Given the description of an element on the screen output the (x, y) to click on. 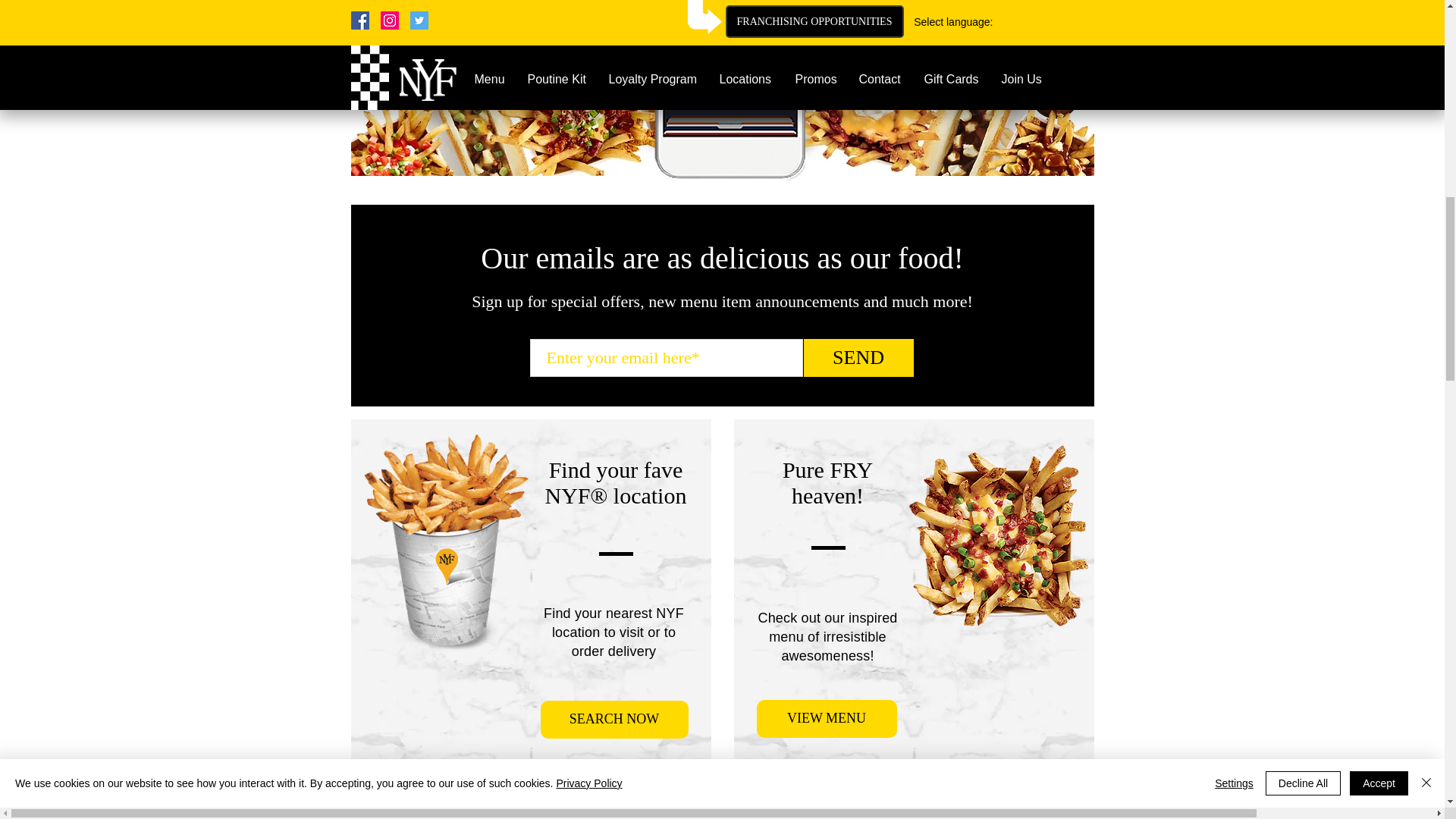
VIEW MENU (826, 718)
SEND (858, 357)
SEARCH NOW (613, 719)
JOIN NOW (948, 1)
